Given the description of an element on the screen output the (x, y) to click on. 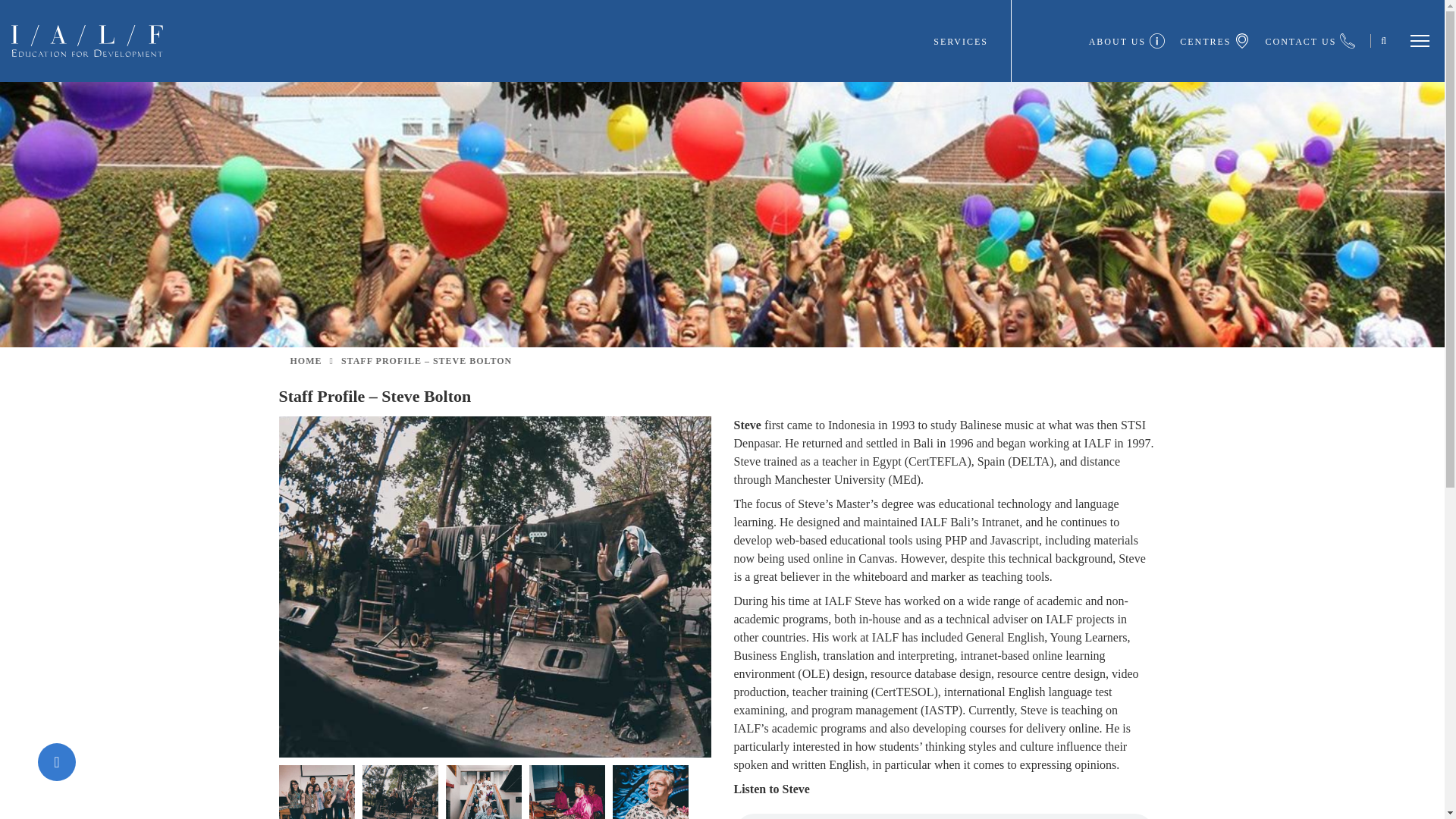
Go to IALF. (305, 360)
SERVICES (971, 40)
IALF (87, 39)
